Given the description of an element on the screen output the (x, y) to click on. 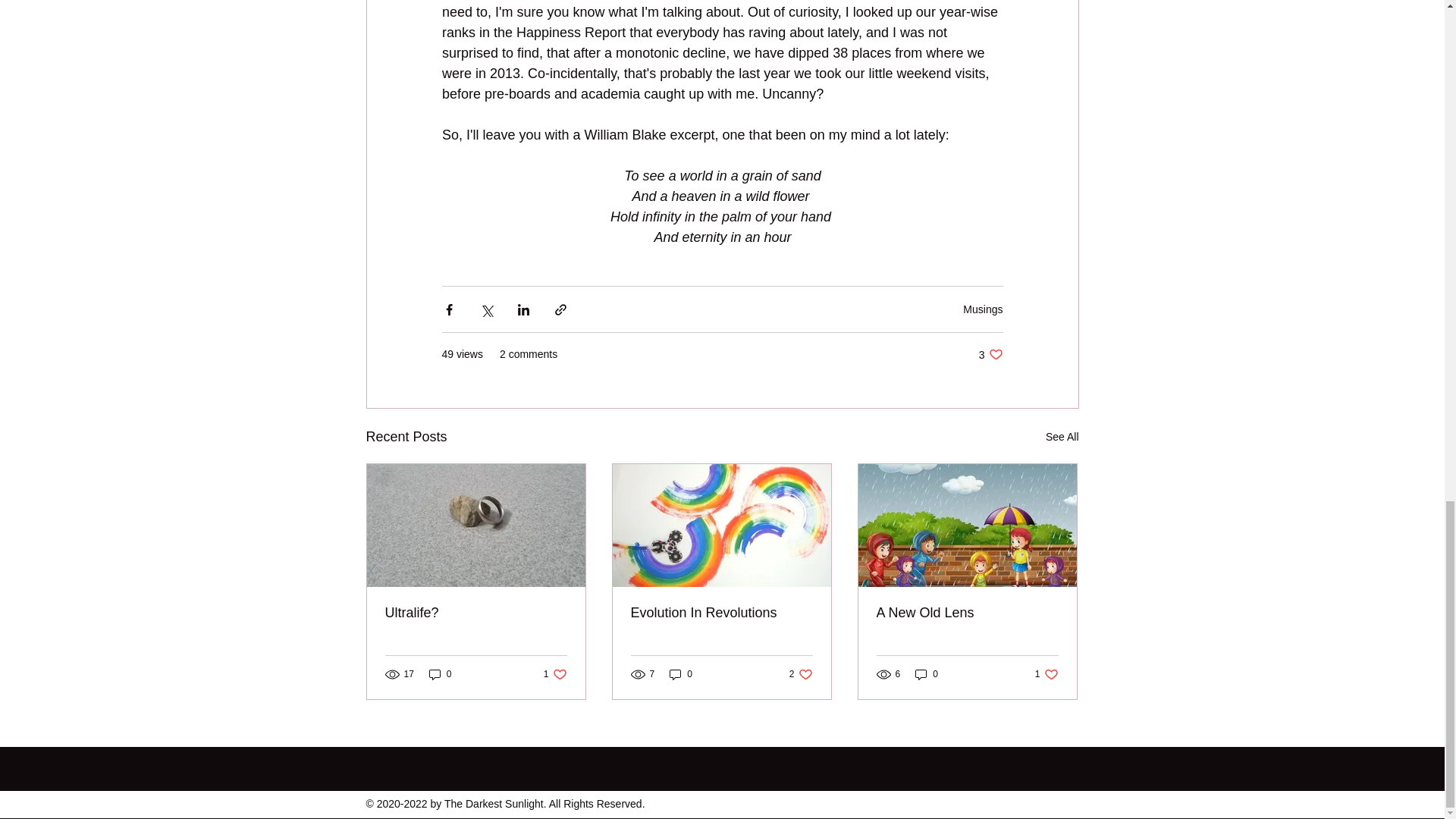
See All (990, 354)
0 (1061, 436)
Musings (800, 673)
A New Old Lens (681, 673)
Evolution In Revolutions (982, 308)
0 (967, 612)
0 (555, 673)
Ultralife? (1046, 673)
